Given the description of an element on the screen output the (x, y) to click on. 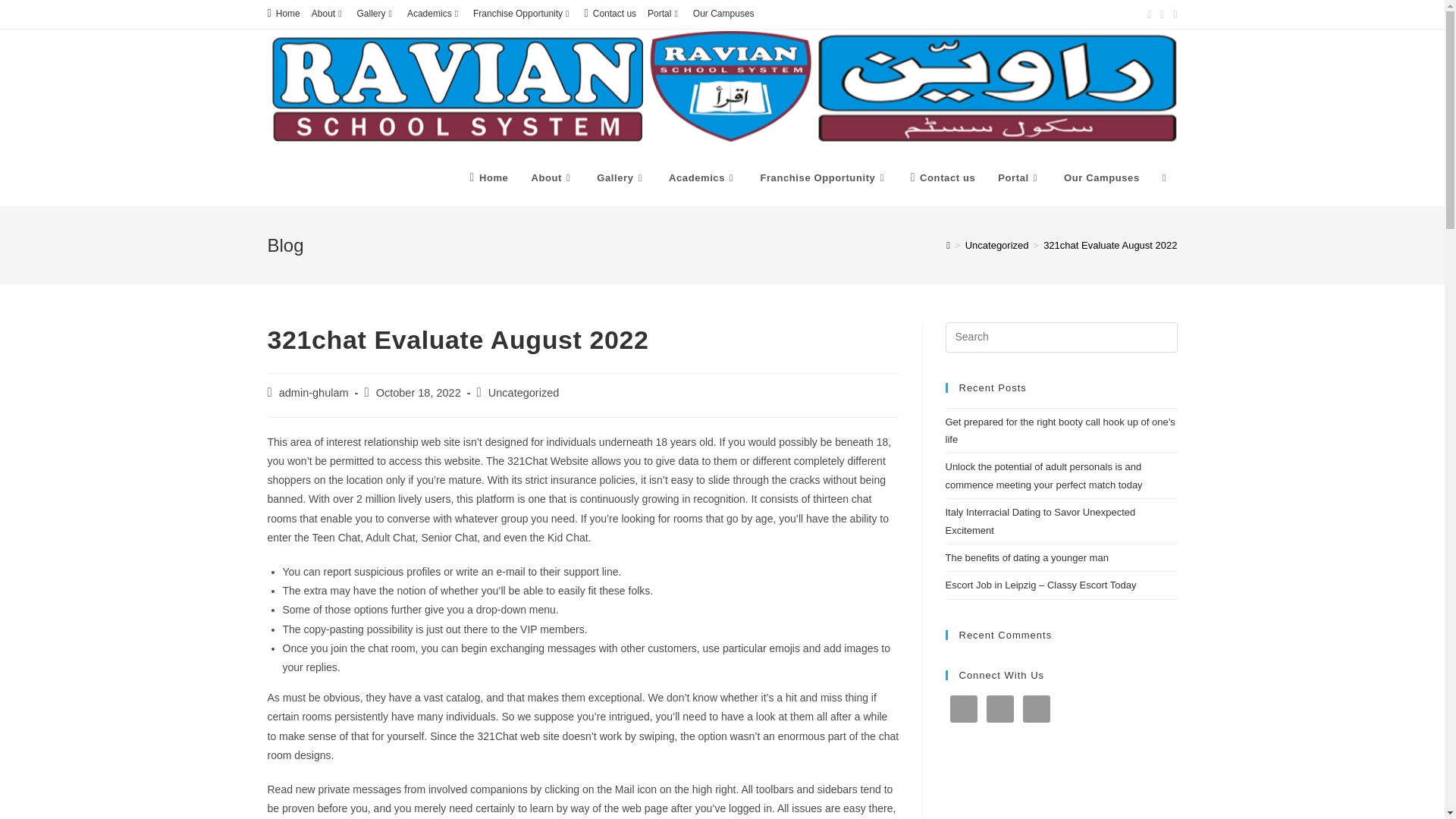
Home (488, 177)
Our Campuses (723, 13)
Franchise Opportunity (522, 13)
About (552, 177)
Home (282, 13)
Portal (664, 13)
About (328, 13)
Contact us (609, 13)
Academics (434, 13)
Gallery (376, 13)
Posts by admin-ghulam (314, 392)
